Given the description of an element on the screen output the (x, y) to click on. 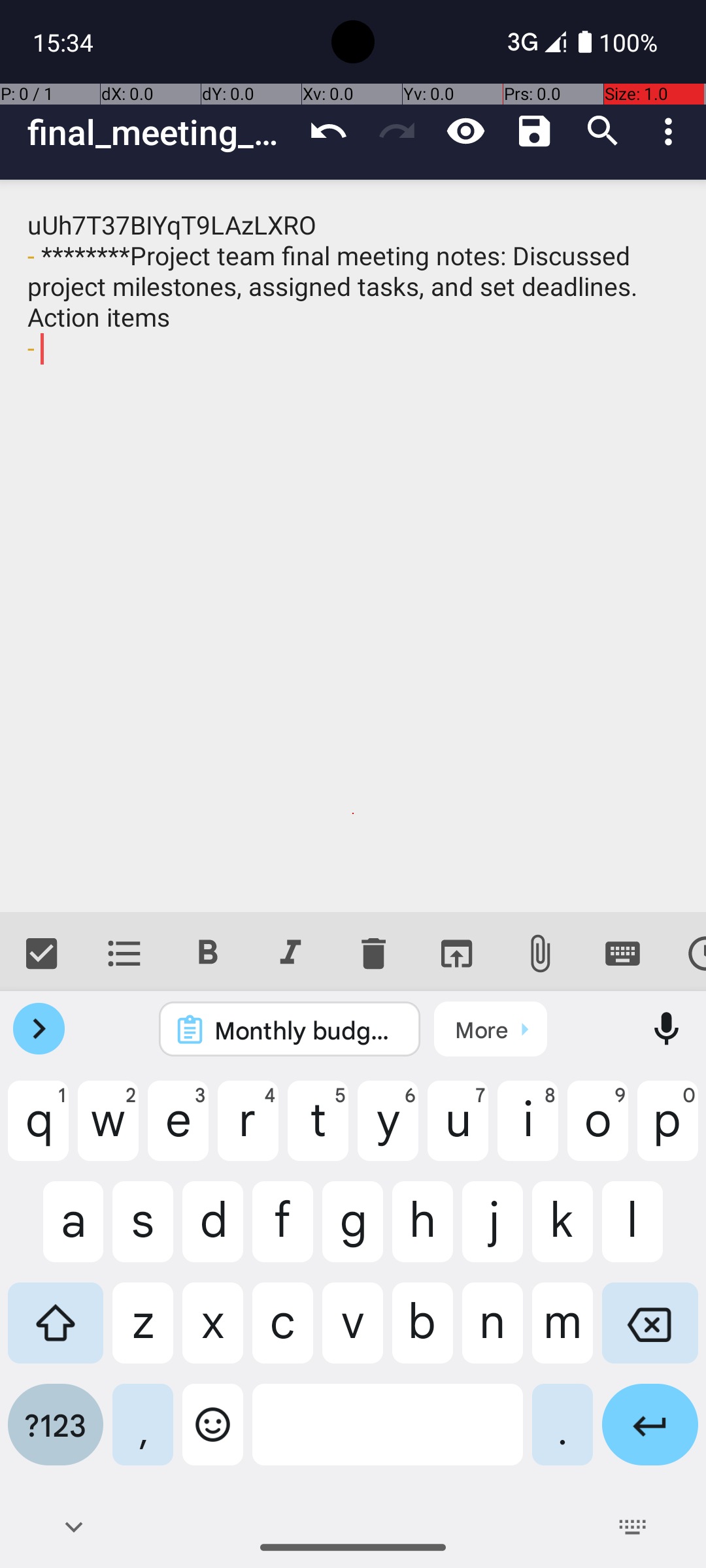
final_meeting_notes_project_team Element type: android.widget.TextView (160, 131)
uUh7T37BIYqT9LAzLXRO
- ********Project team final meeting notes: Discussed project milestones, assigned tasks, and set deadlines. Action items
-  Element type: android.widget.EditText (353, 545)
Monthly budget meeting pushed to Friday. Element type: android.widget.TextView (306, 1029)
